Given the description of an element on the screen output the (x, y) to click on. 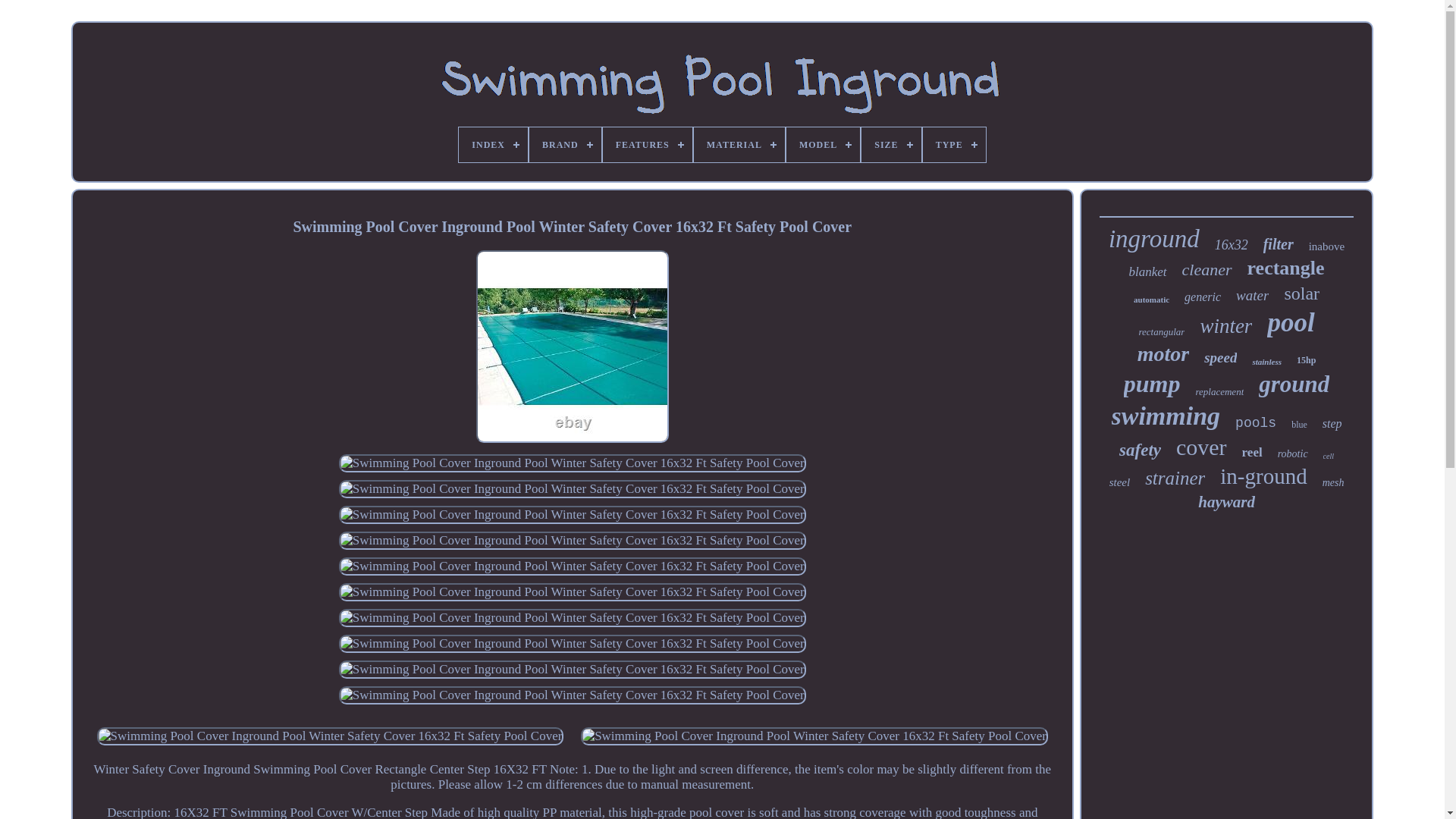
INDEX (492, 144)
FEATURES (647, 144)
BRAND (565, 144)
